Given the description of an element on the screen output the (x, y) to click on. 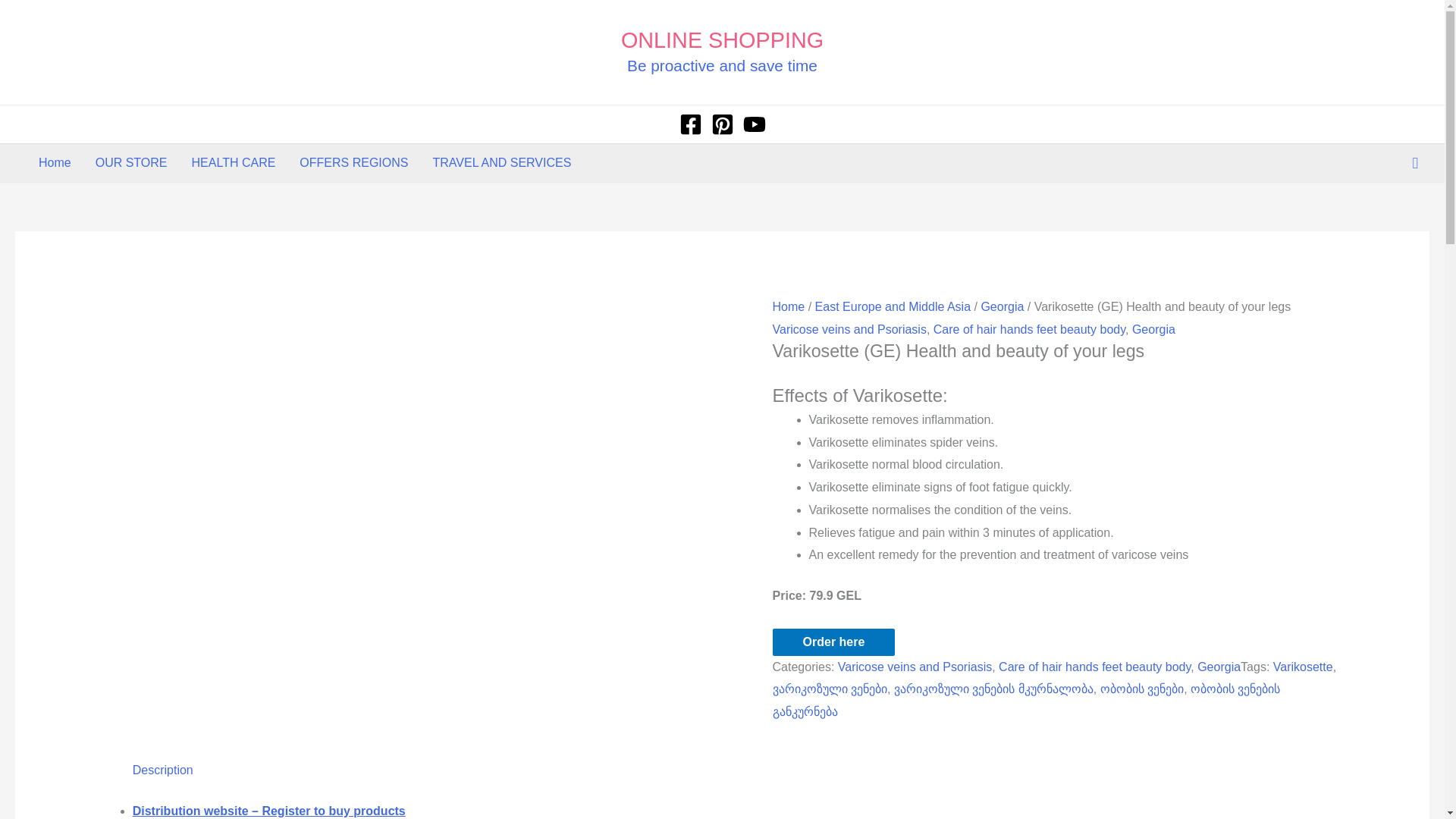
Home (54, 162)
ONLINE SHOPPING (722, 39)
OUR STORE (130, 162)
TRAVEL AND SERVICES (501, 162)
OFFERS REGIONS (353, 162)
HEALTH CARE (233, 162)
